Given the description of an element on the screen output the (x, y) to click on. 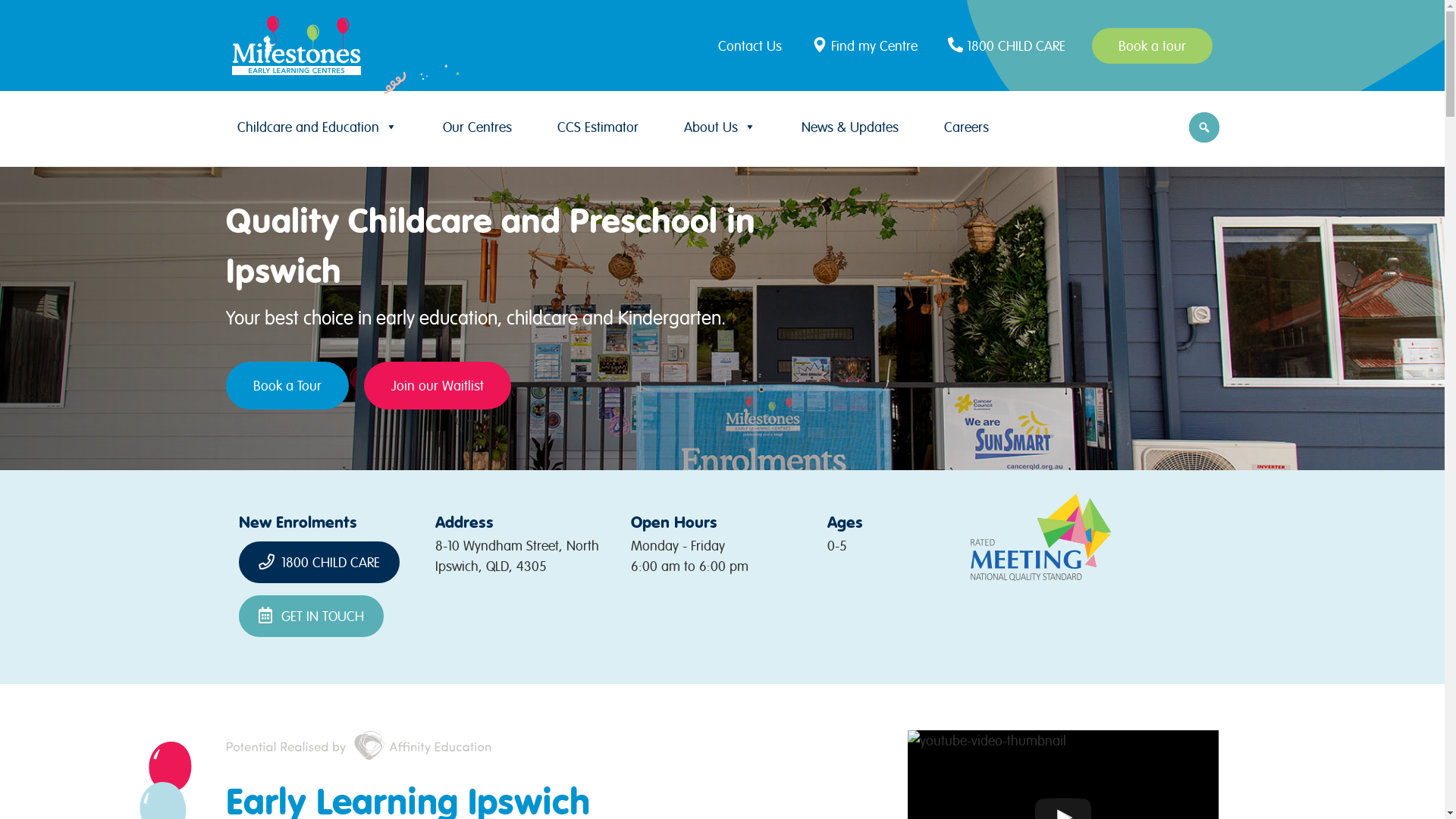
Join our Waitlist Element type: text (437, 385)
Book a Tour Element type: text (286, 385)
1800 CHILD CARE Element type: text (318, 562)
Book a tour Element type: text (1152, 44)
Childcare and Education Element type: text (316, 127)
1800 CHILD CARE Element type: text (1008, 44)
Find my Centre Element type: text (866, 44)
News & Updates Element type: text (849, 127)
Our Centres Element type: text (477, 127)
CCS Estimator Element type: text (597, 127)
Contact Us Element type: text (753, 44)
GET IN TOUCH Element type: text (310, 616)
potential-realised-by-affinity-education Element type: hover (358, 745)
About Us Element type: text (719, 127)
Careers Element type: text (965, 127)
Search Element type: text (15, 17)
